Given the description of an element on the screen output the (x, y) to click on. 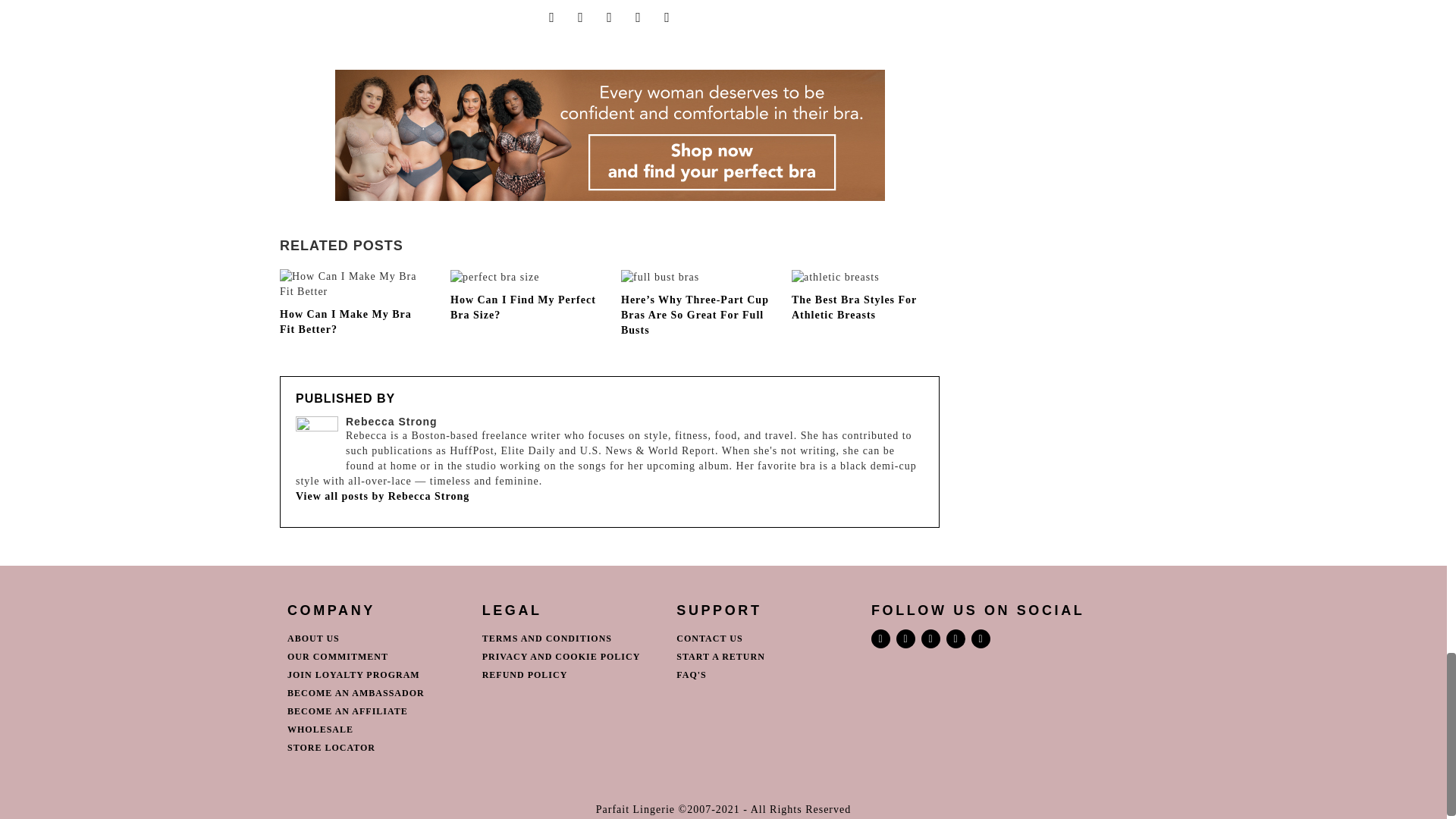
Share this post on Twitter (580, 16)
Share this post on Facebook (552, 16)
